Given the description of an element on the screen output the (x, y) to click on. 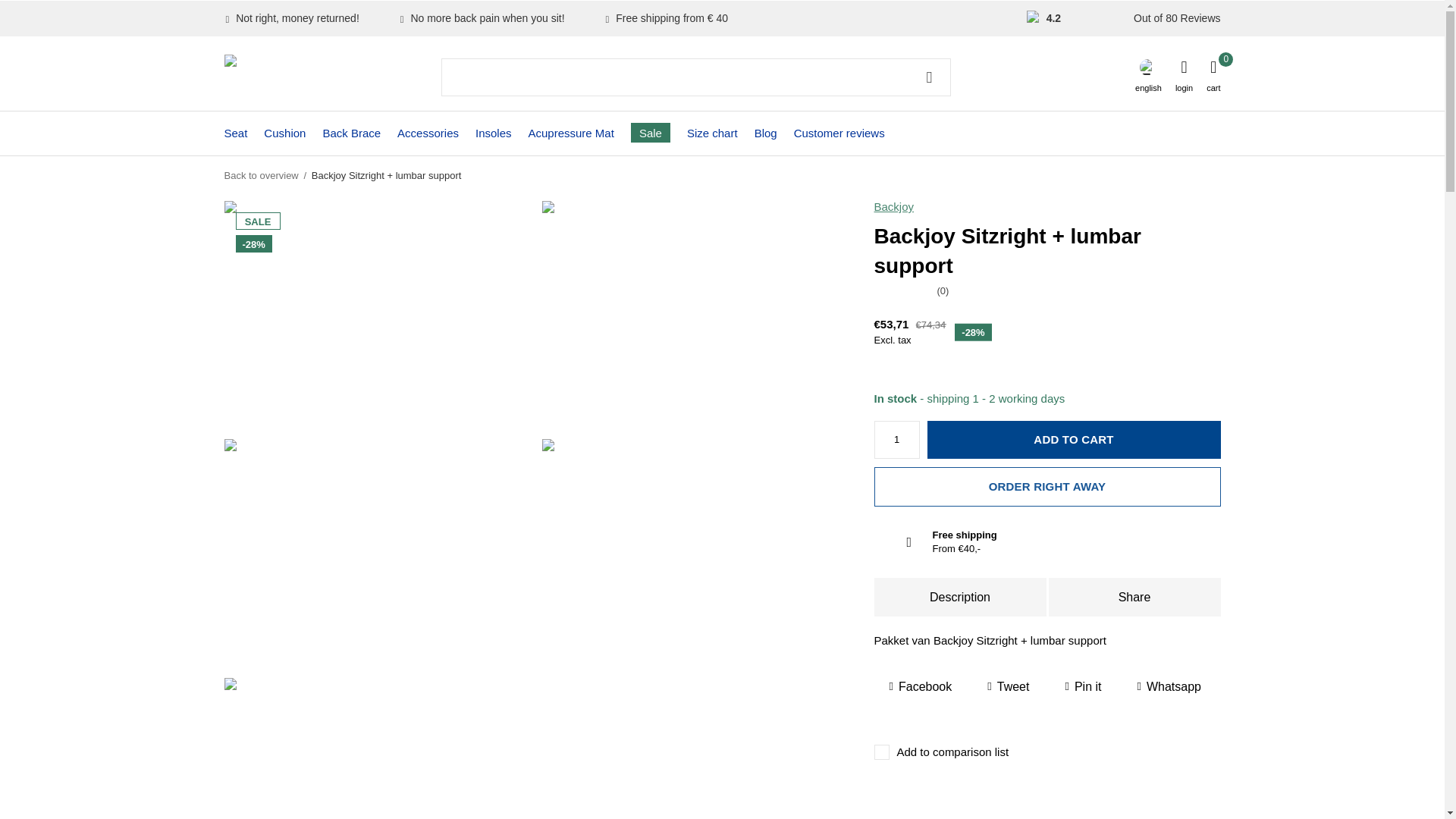
Seat (235, 132)
1 (895, 439)
Back Brace (350, 132)
Blog (765, 132)
Acupressure Mat (569, 132)
Size chart (712, 132)
Customer reviews (839, 132)
Blog (765, 132)
Sale (649, 132)
Accessories (427, 132)
Customer reviews (839, 132)
Cushion (284, 132)
Insoles (494, 132)
